Given the description of an element on the screen output the (x, y) to click on. 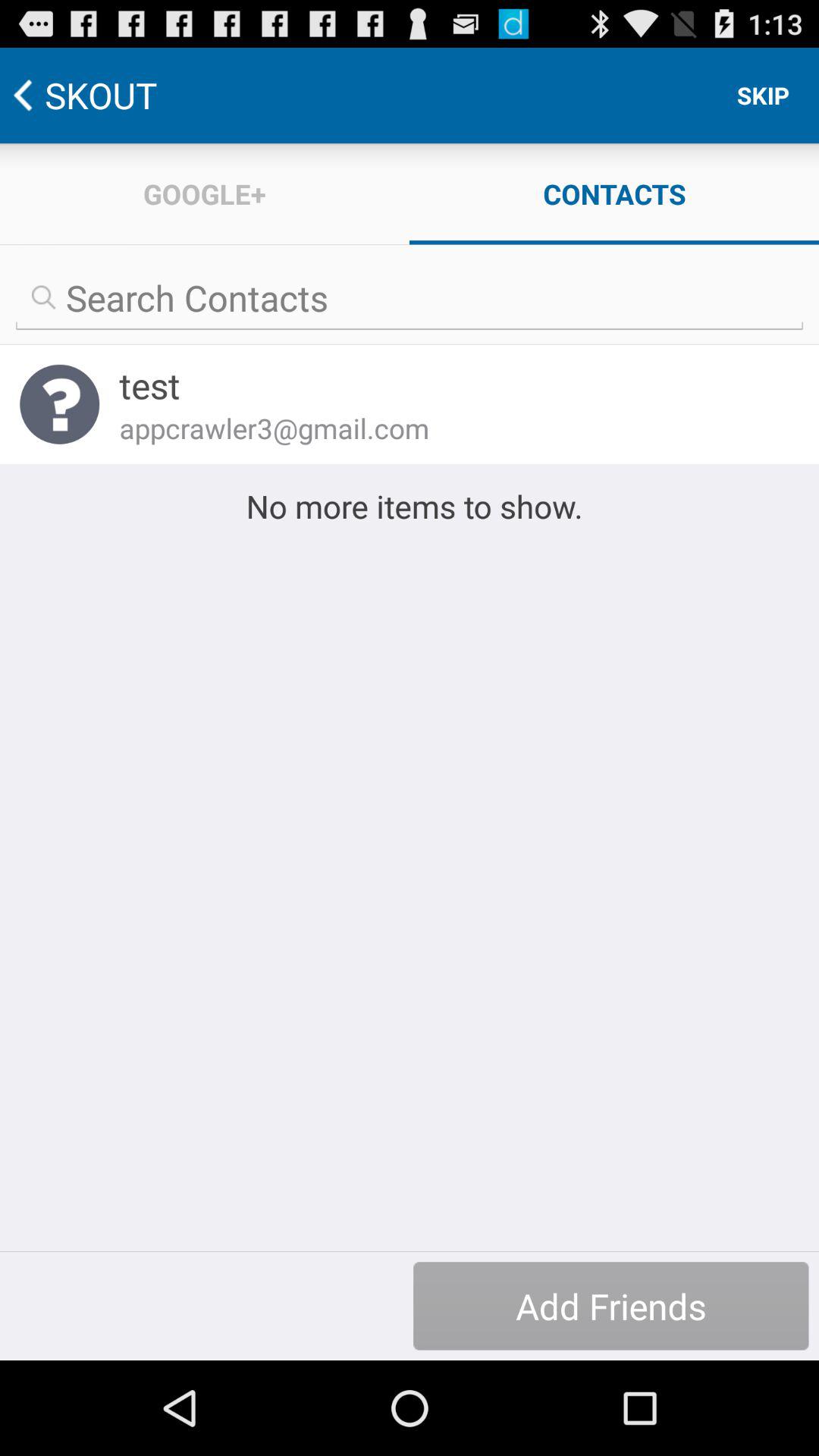
turn on the test icon (449, 385)
